Given the description of an element on the screen output the (x, y) to click on. 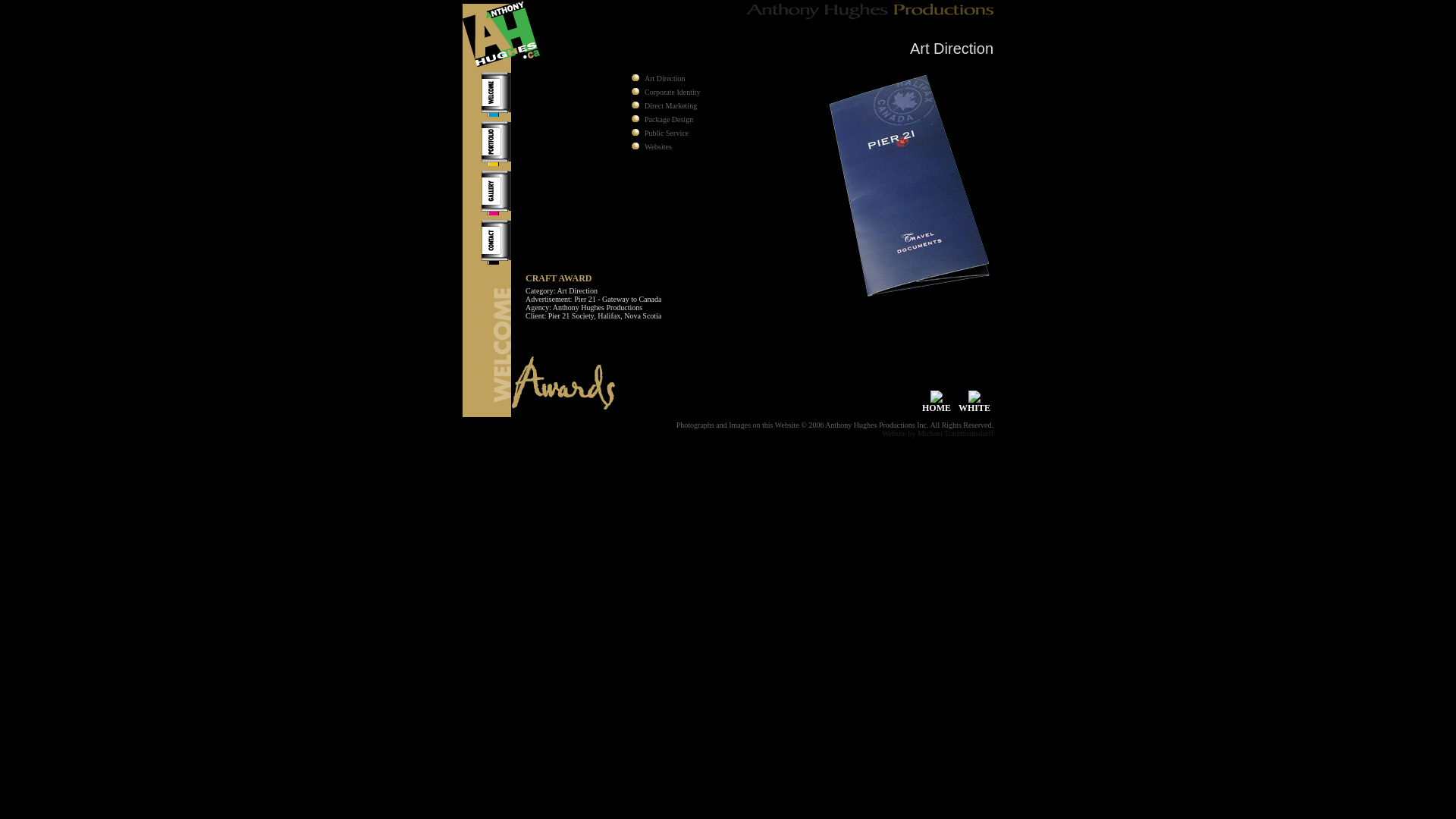
Package Design Element type: text (668, 119)
HOME Element type: text (936, 403)
Art Direction Element type: text (664, 78)
Direct Marketing Element type: text (670, 105)
Corporate Identity Element type: text (672, 91)
WHITE Element type: text (974, 403)
Public Service Element type: text (666, 132)
Websites Element type: text (657, 146)
Michael Trauttmansdorff Element type: text (955, 433)
